Given the description of an element on the screen output the (x, y) to click on. 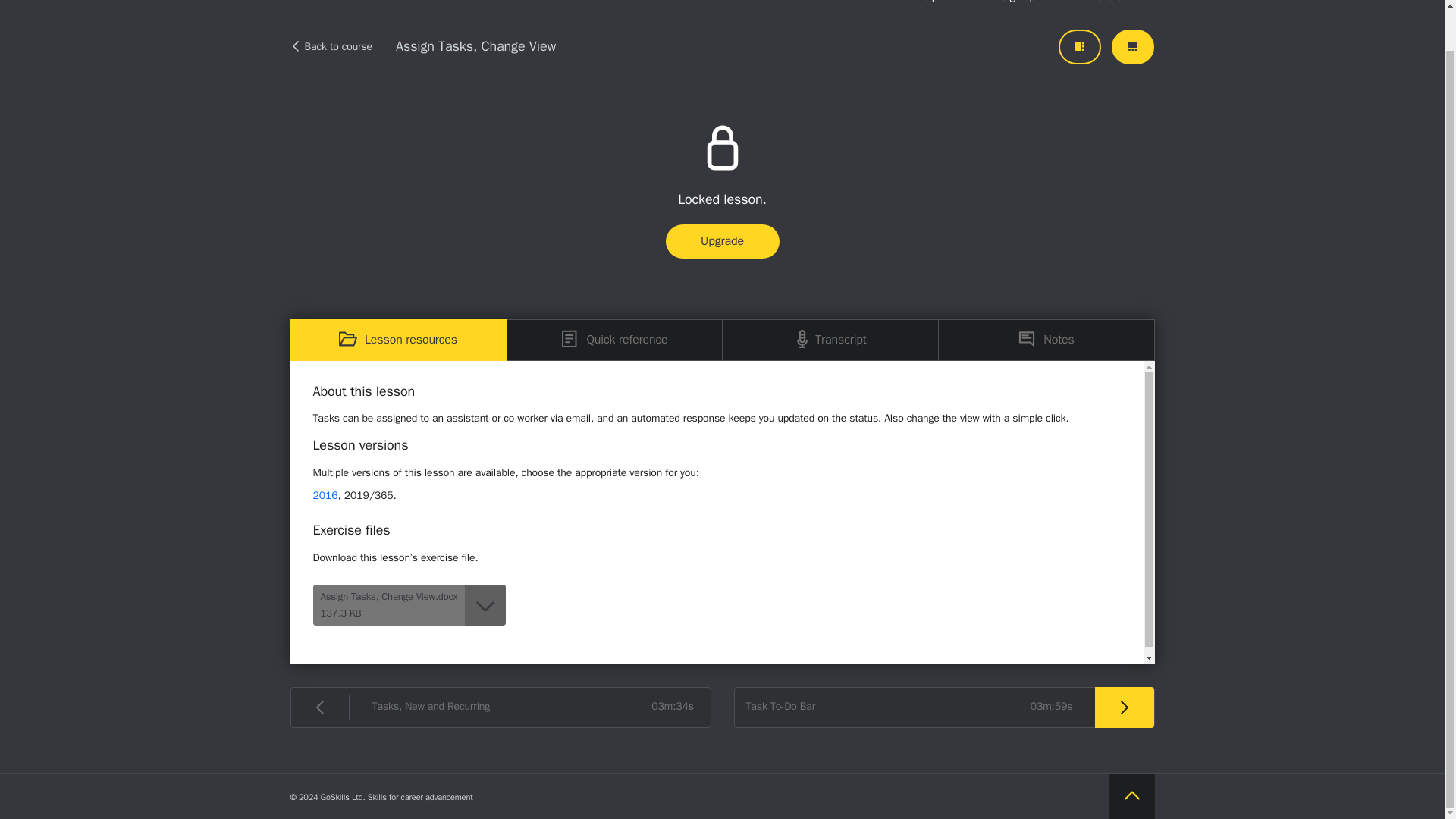
Next lesson (943, 707)
Compact player layout (1079, 46)
Large player layout (1133, 46)
Sign up (1017, 7)
GoSkills (349, 7)
Compact player (1079, 46)
Quick reference (614, 340)
Notes (1046, 340)
Upgrade (721, 241)
Notes (1046, 340)
